Given the description of an element on the screen output the (x, y) to click on. 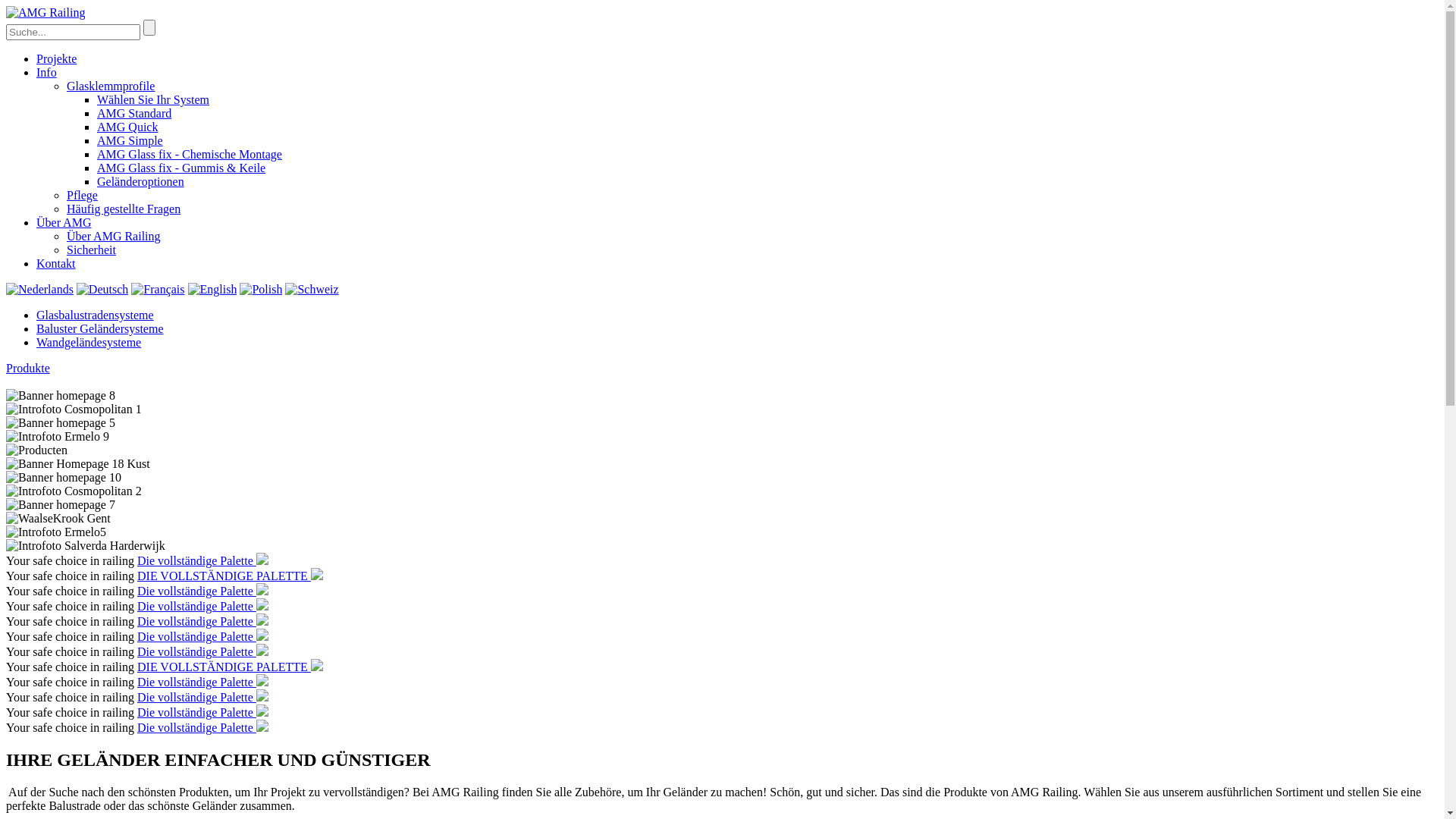
Sicherheit Element type: text (91, 249)
English Element type: hover (212, 288)
AMG Railing Element type: hover (45, 12)
Deutsch Element type: hover (102, 288)
AMG Glass fix - Gummis & Keile Element type: text (181, 167)
Kontakt Element type: text (55, 263)
Produkte Element type: text (28, 367)
Glasklemmprofile Element type: text (110, 85)
AMG Simple Element type: text (130, 140)
Schweiz Element type: hover (311, 288)
Nederlands Element type: hover (39, 288)
Glasbalustradensysteme Element type: text (94, 314)
AMG Standard Element type: text (134, 112)
Info Element type: text (46, 71)
AMG Quick Element type: text (127, 126)
Pflege Element type: text (81, 194)
AMG Glass fix - Chemische Montage Element type: text (189, 153)
Projekte Element type: text (56, 58)
Polish Element type: hover (260, 288)
